Given the description of an element on the screen output the (x, y) to click on. 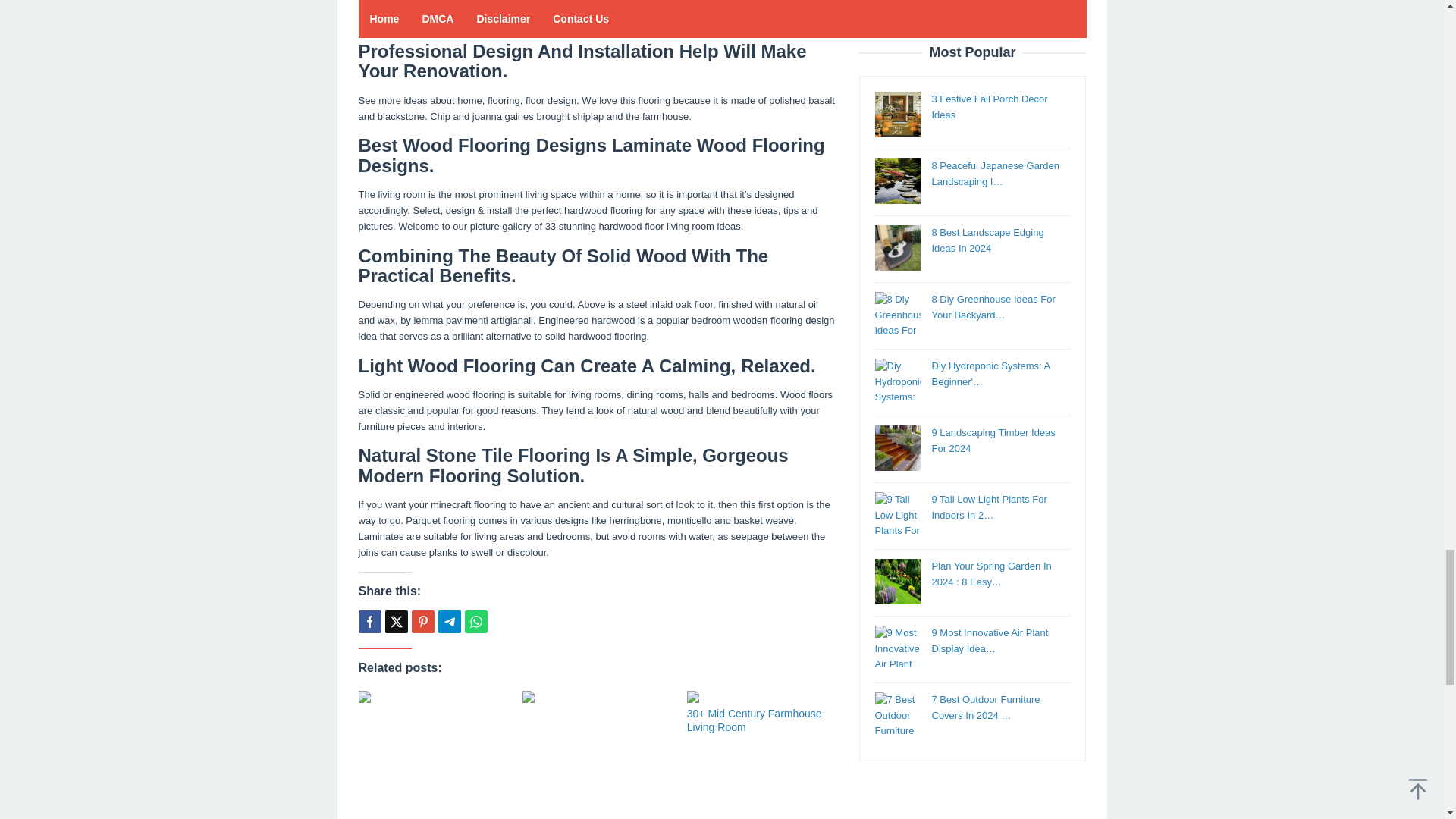
Pin this (421, 621)
Telegram Share (449, 621)
Share this (369, 621)
Tweet this (396, 621)
Whatsapp (475, 621)
